Given the description of an element on the screen output the (x, y) to click on. 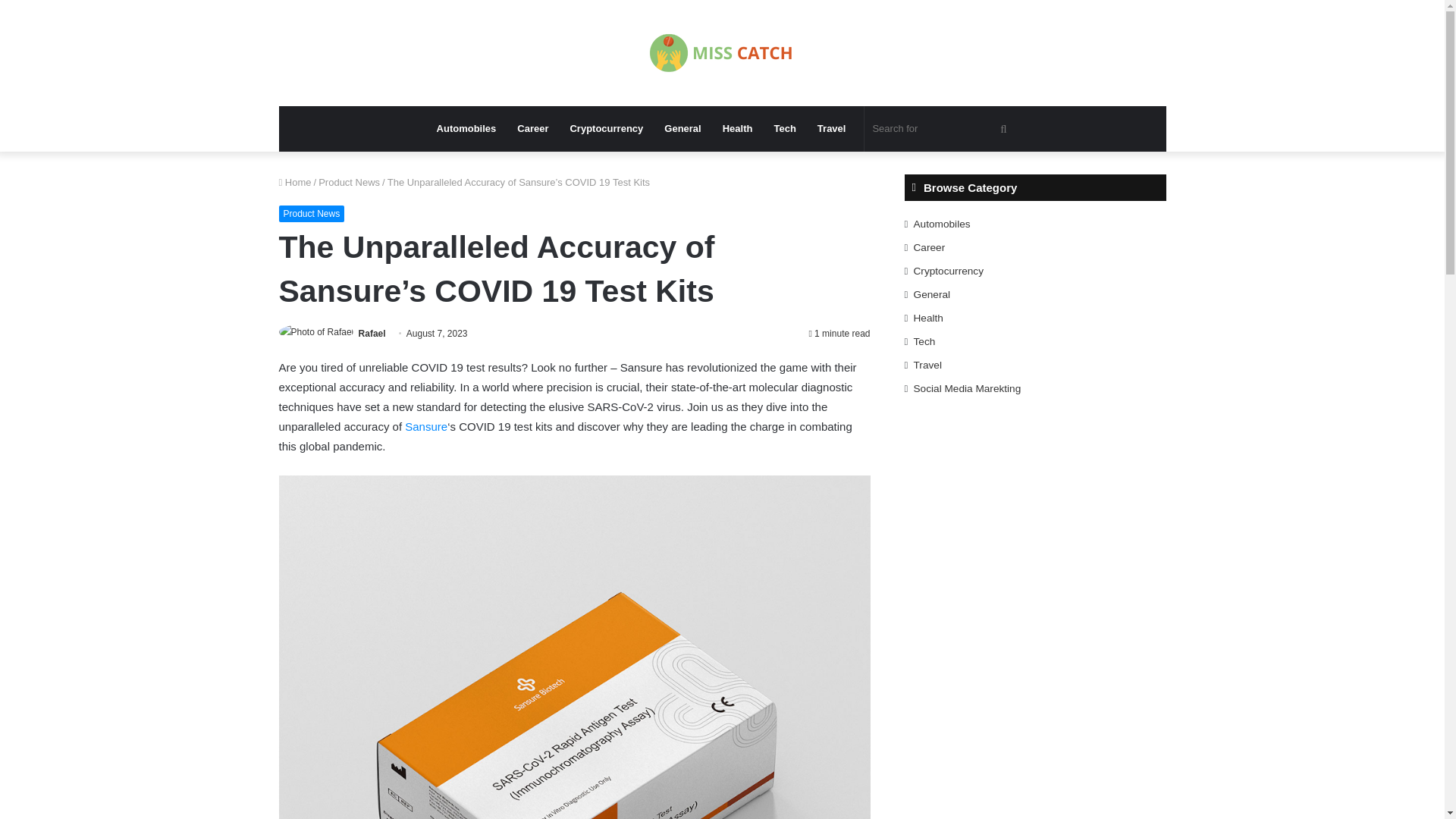
General (682, 128)
Cryptocurrency (606, 128)
Automobiles (942, 224)
Health (736, 128)
Career (532, 128)
Product News (349, 182)
Rafael (371, 333)
Travel (831, 128)
Home (295, 182)
Automobiles (466, 128)
Rafael (371, 333)
Miss Catch (721, 53)
Tech (784, 128)
Search for (940, 128)
Sansure (425, 426)
